Given the description of an element on the screen output the (x, y) to click on. 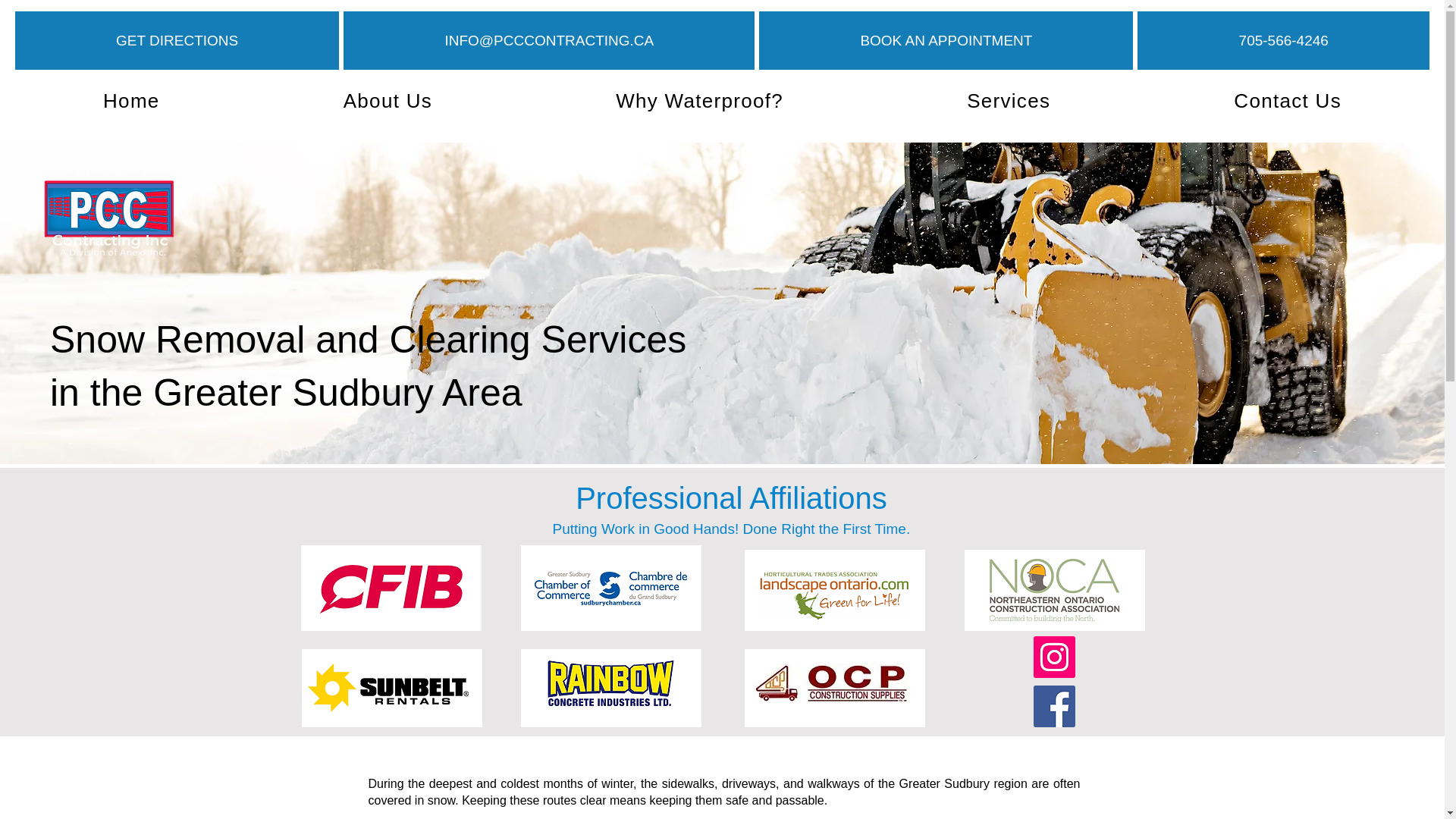
Home (130, 100)
GET DIRECTIONS (176, 40)
Contact Us (1287, 100)
705-566-4246 (1283, 40)
Services (1008, 100)
BOOK AN APPOINTMENT (945, 40)
About Us (387, 100)
Why Waterproof? (698, 100)
